Given the description of an element on the screen output the (x, y) to click on. 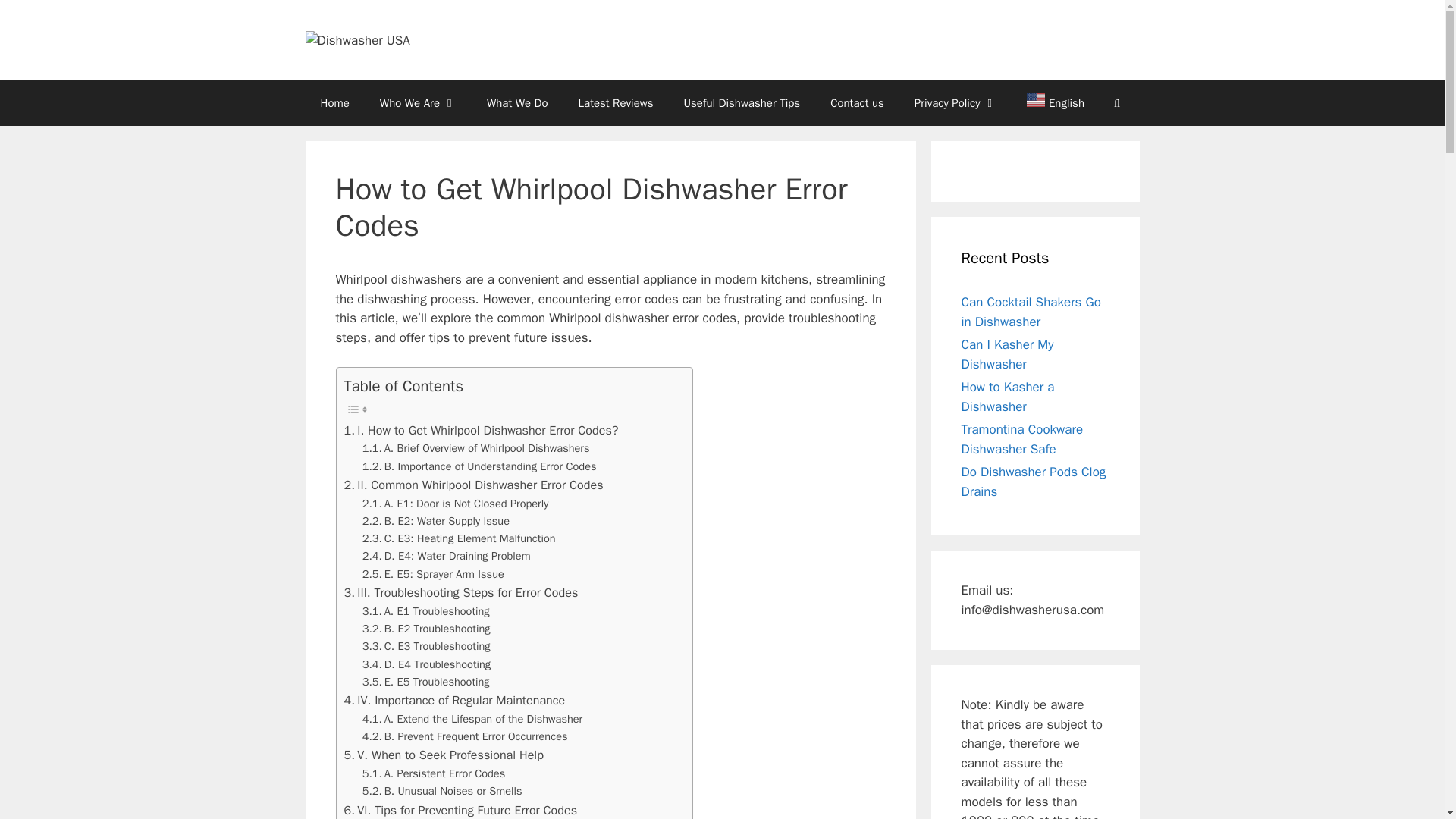
A. E1: Door is Not Closed Properly (455, 503)
B. Importance of Understanding Error Codes (479, 466)
A. E1: Door is Not Closed Properly (455, 503)
Privacy Policy (955, 103)
B. Importance of Understanding Error Codes (479, 466)
A. Brief Overview of Whirlpool Dishwashers (475, 448)
Useful Dishwasher Tips (741, 103)
English (1047, 103)
What We Do (517, 103)
II. Common Whirlpool Dishwasher Error Codes (473, 485)
